Given the description of an element on the screen output the (x, y) to click on. 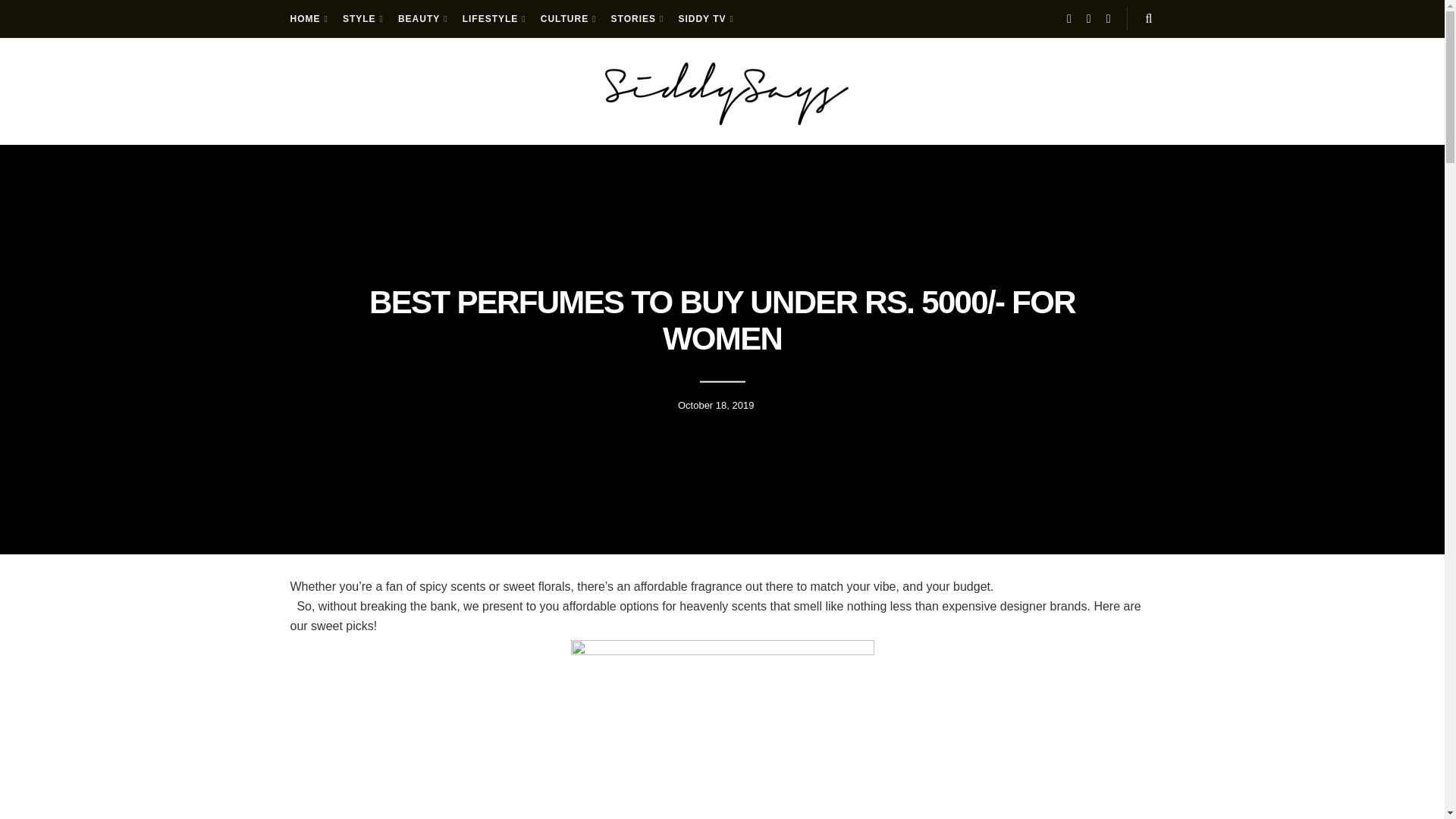
SIDDY TV (705, 18)
STORIES (636, 18)
STYLE (361, 18)
BEAUTY (421, 18)
CULTURE (567, 18)
HOME (306, 18)
LIFESTYLE (493, 18)
